Given the description of an element on the screen output the (x, y) to click on. 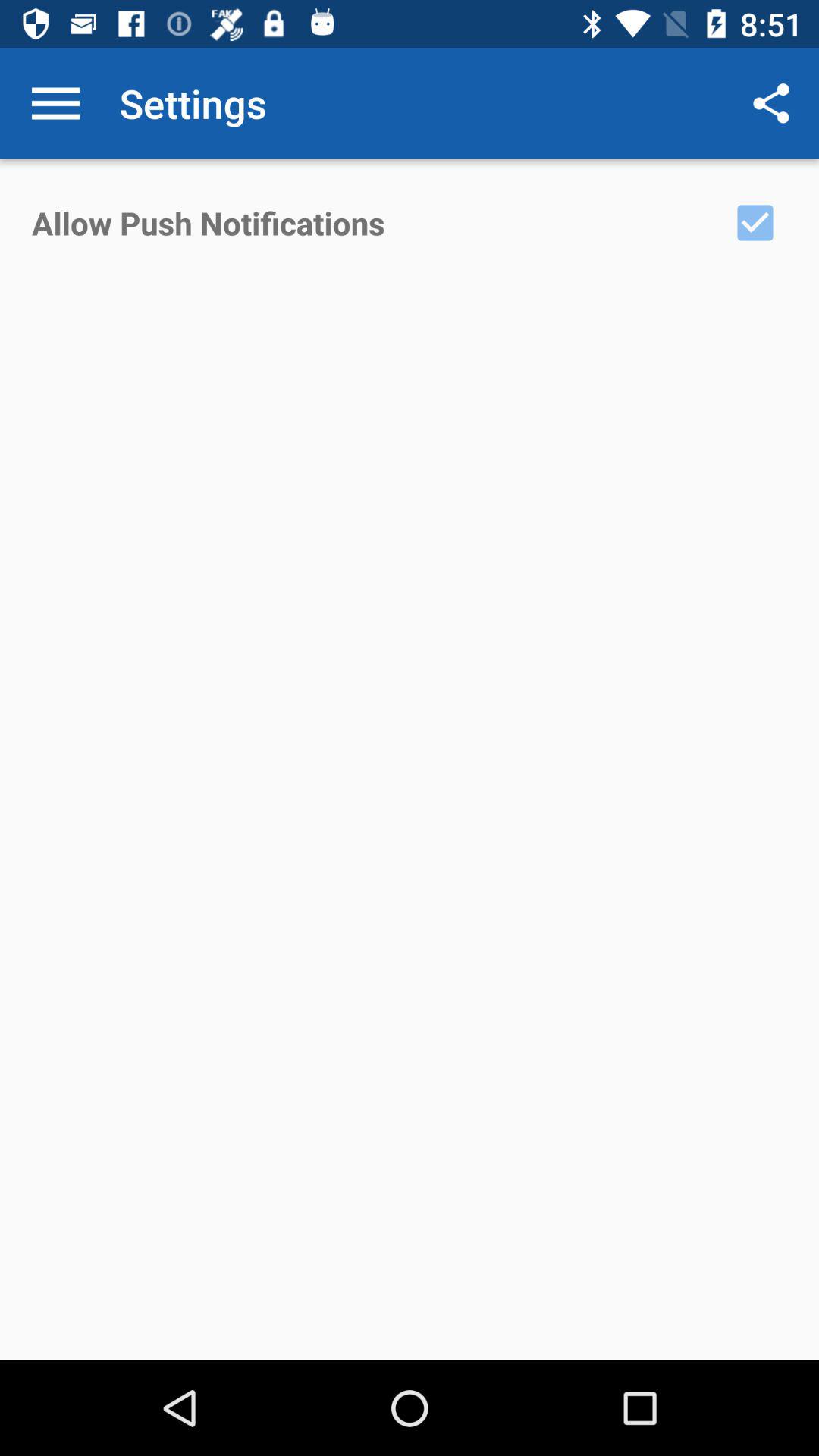
press app next to settings (771, 103)
